Given the description of an element on the screen output the (x, y) to click on. 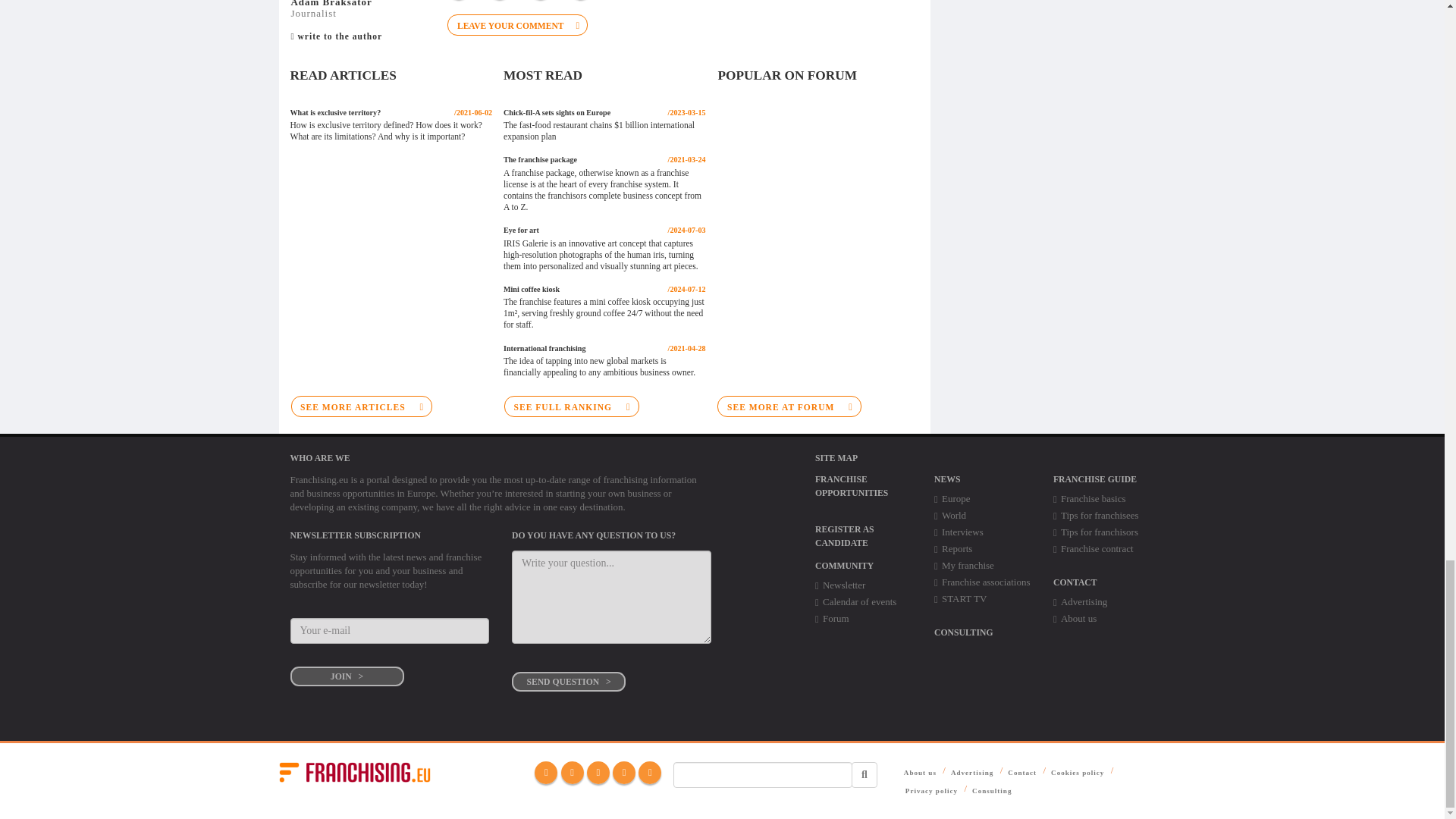
linkedin (598, 772)
instagram (623, 772)
googlenews (650, 772)
facebook (545, 772)
twitter (571, 772)
